Given the description of an element on the screen output the (x, y) to click on. 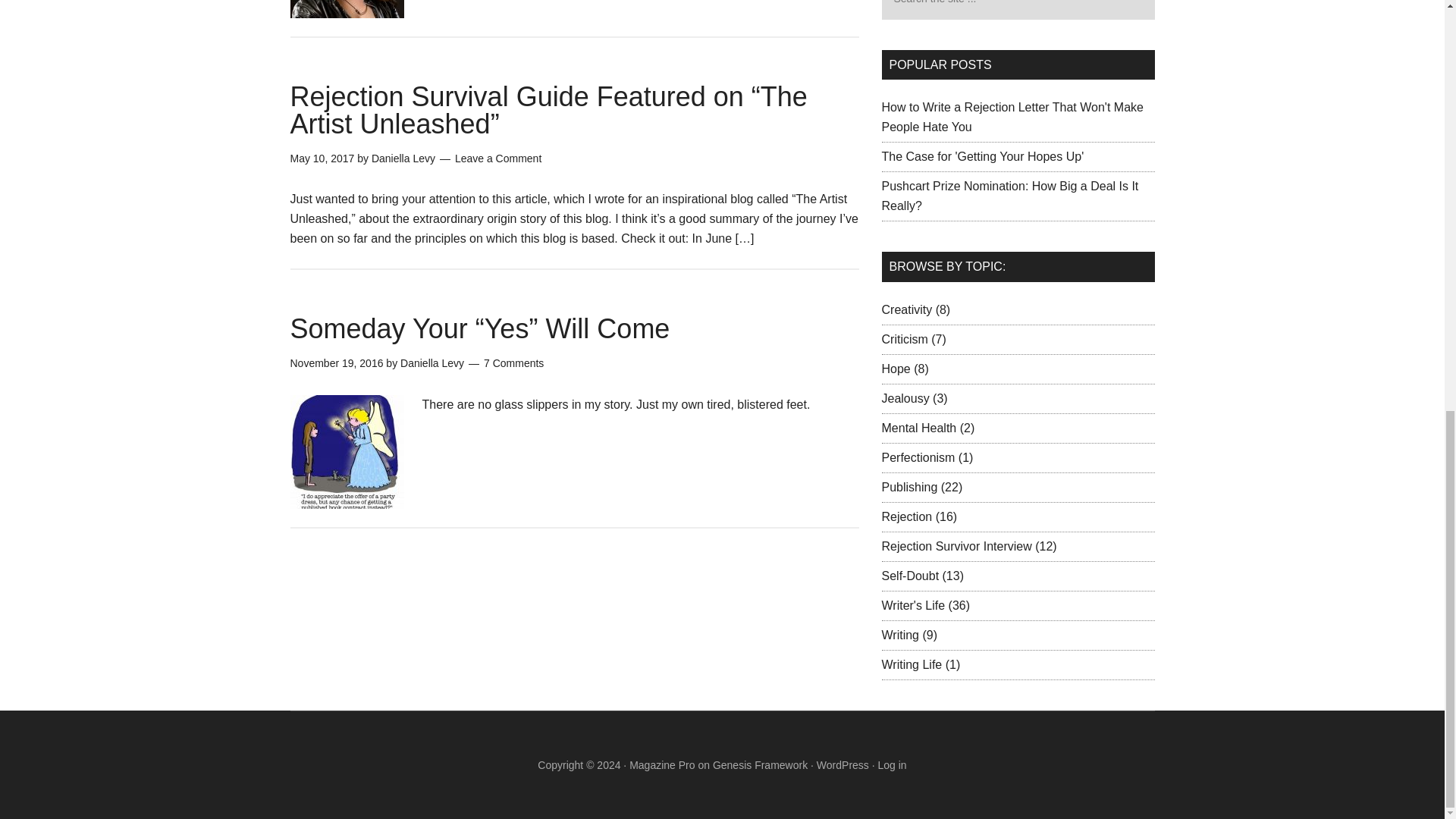
Self-Doubt (909, 575)
Mental Health (918, 427)
Criticism (903, 338)
Rejection Survivor Interview (955, 545)
Jealousy (904, 398)
Daniella Levy (432, 363)
Daniella Levy (403, 158)
The Case for 'Getting Your Hopes Up' (981, 155)
Creativity (905, 308)
7 Comments (513, 363)
Publishing (908, 486)
Rejection (905, 516)
Pushcart Prize Nomination: How Big a Deal Is It Really? (1009, 195)
Leave a Comment (497, 158)
